Given the description of an element on the screen output the (x, y) to click on. 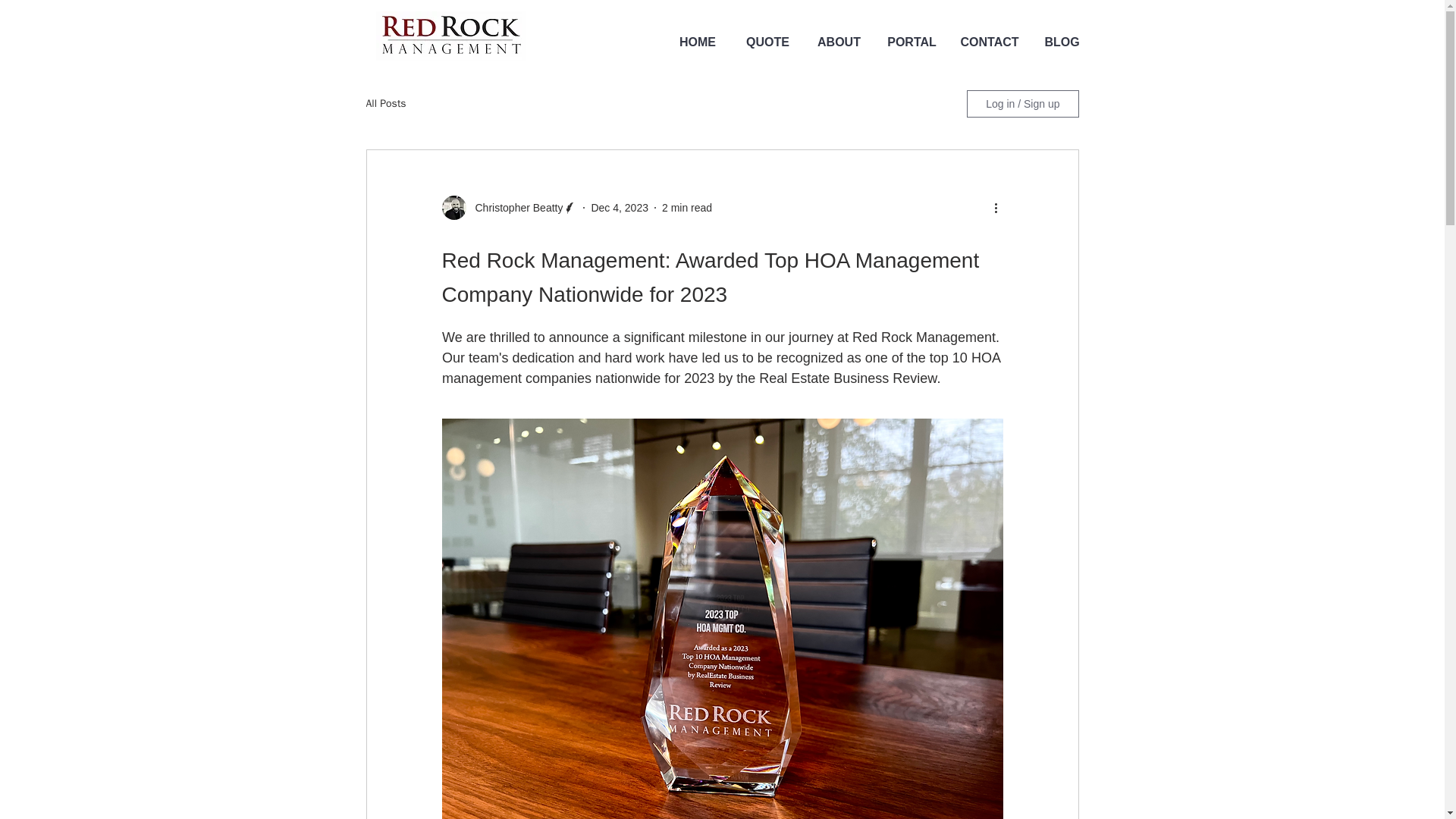
All Posts (385, 103)
HOME (697, 42)
BLOG (1061, 42)
CONTACT (989, 42)
ABOUT (839, 42)
Dec 4, 2023 (619, 207)
2 min read (686, 207)
PORTAL (912, 42)
Christopher Beatty (513, 207)
QUOTE (767, 42)
